Given the description of an element on the screen output the (x, y) to click on. 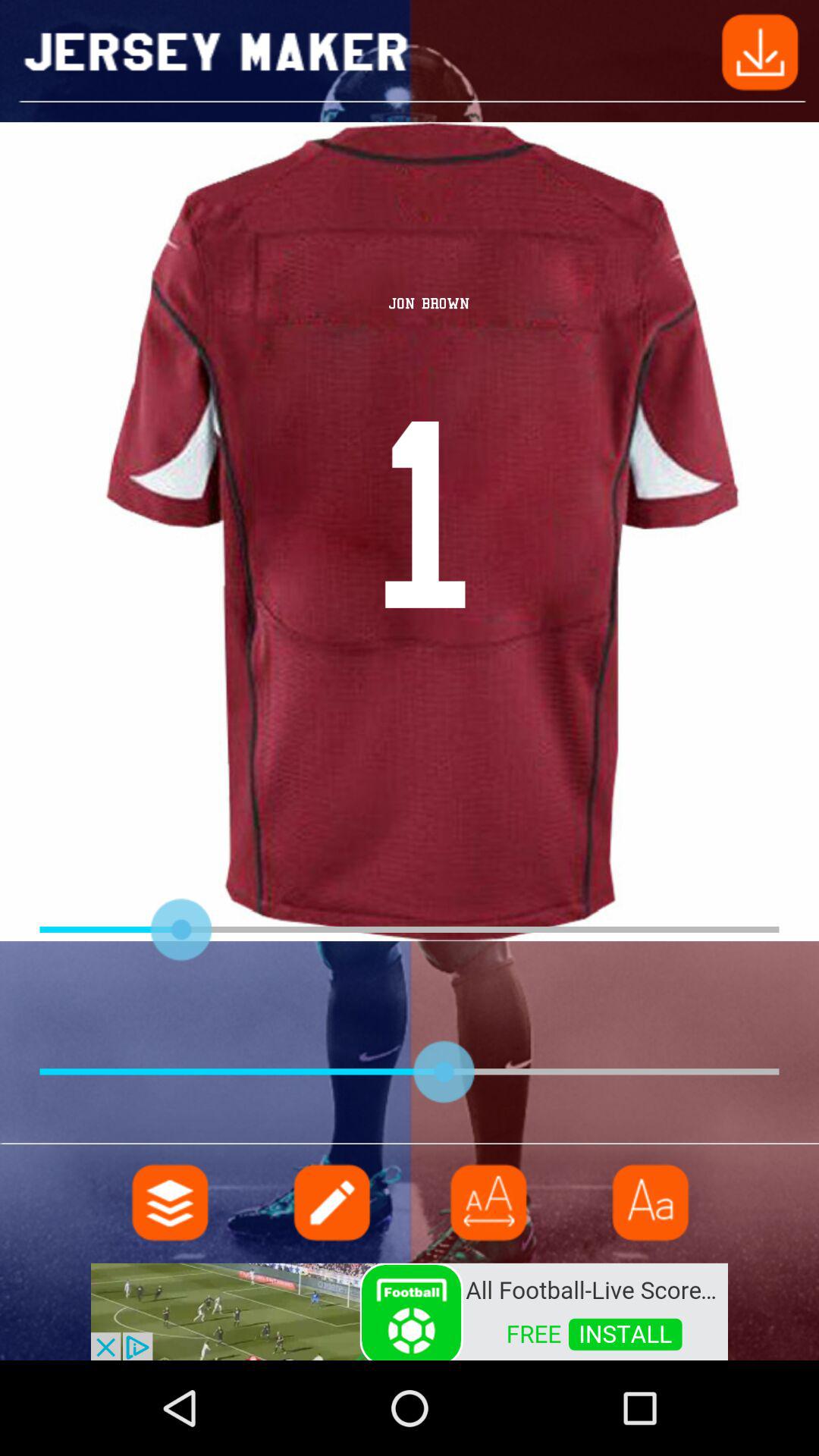
write button (329, 1202)
